Given the description of an element on the screen output the (x, y) to click on. 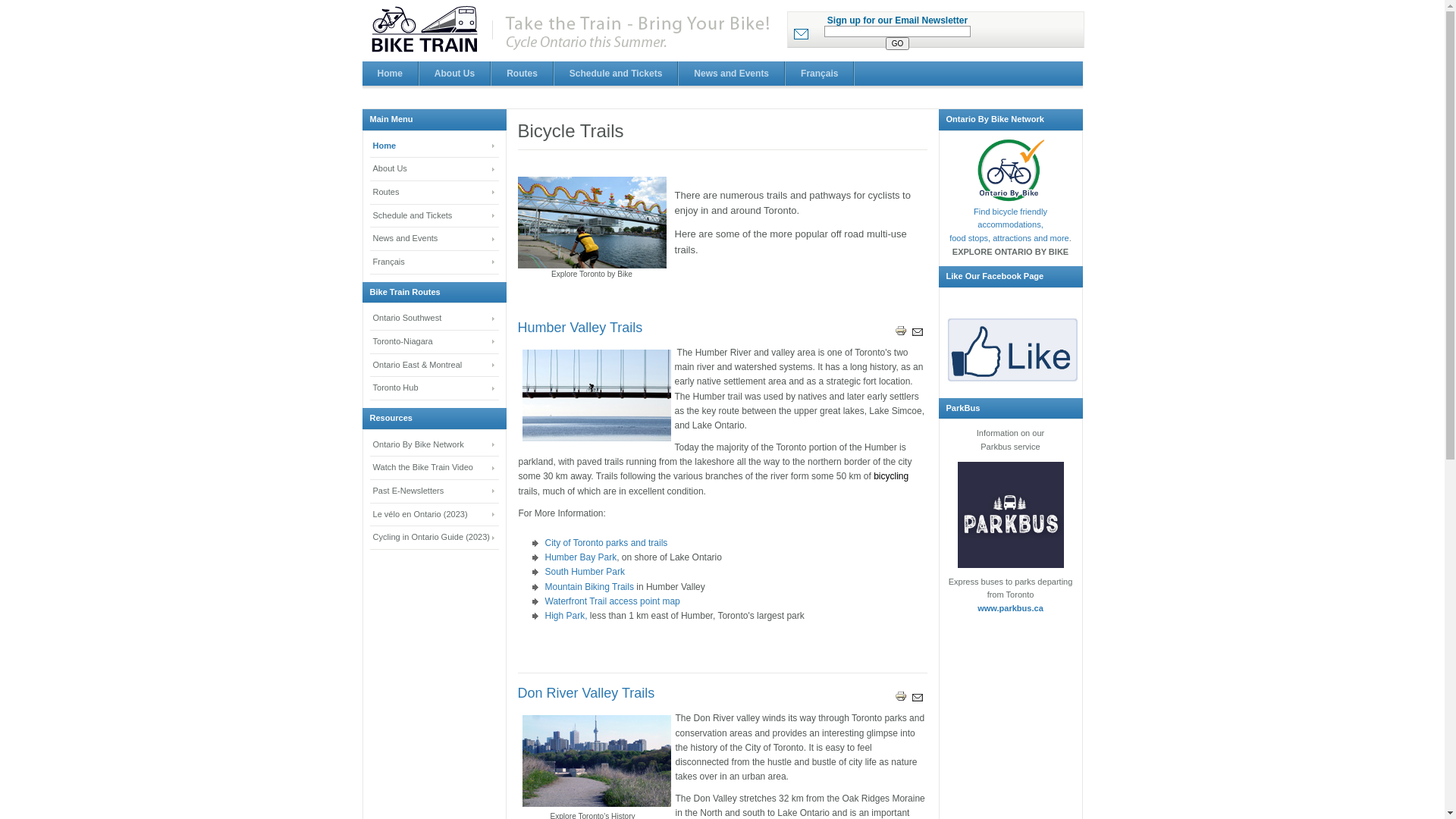
Schedule and Tickets Element type: text (434, 216)
Home Element type: text (434, 146)
Schedule and Tickets Element type: text (616, 73)
News and Events Element type: text (731, 73)
Ontario Southwest Element type: text (434, 318)
Find bicycle friendly accommodations, Element type: text (1010, 218)
Routes Element type: text (434, 192)
Humber Bay Park Element type: hover (595, 395)
Waterfront Trail access point map Element type: text (611, 601)
GO Element type: text (897, 43)
Humber Bay Park Element type: text (580, 557)
food stops, attractions and more Element type: text (1009, 237)
About Us Element type: text (434, 169)
City of Toronto parks and trails Element type: text (605, 542)
Ontario East & Montreal Element type: text (434, 365)
Explore Toronto's History Element type: hover (595, 760)
Cycling in Ontario Guide (2023) Element type: text (434, 537)
Ontario By Bike Network Element type: text (434, 445)
Past E-Newsletters Element type: text (434, 491)
Explore Toronto by Bike Element type: hover (591, 222)
South Humber Park Element type: text (584, 571)
Watch the Bike Train Video Element type: text (434, 468)
Home Element type: text (390, 73)
News and Events Element type: text (434, 239)
Toronto Hub Element type: text (434, 388)
About Us Element type: text (454, 73)
High Park, Element type: text (565, 615)
Routes Element type: text (522, 73)
www.parkbus.ca Element type: text (1010, 607)
Toronto-Niagara Element type: text (434, 342)
Bike Train - Cycle Ontario This Summer Element type: hover (572, 29)
Mountain Biking Trails Element type: text (590, 586)
